Given the description of an element on the screen output the (x, y) to click on. 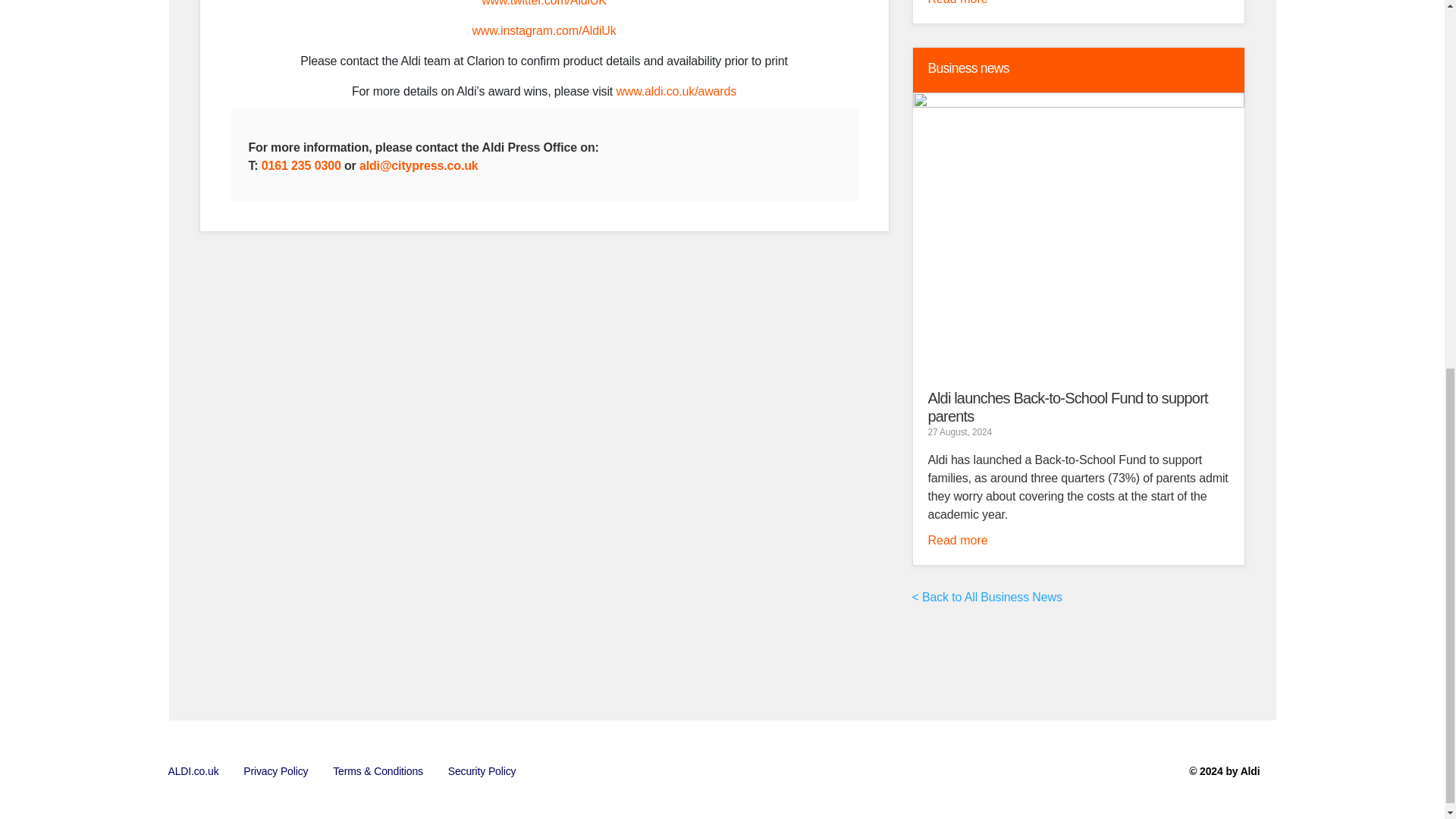
ALDI.co.uk (193, 771)
Privacy Policy (275, 771)
Security Policy (482, 771)
0161 235 0300 (301, 164)
